Given the description of an element on the screen output the (x, y) to click on. 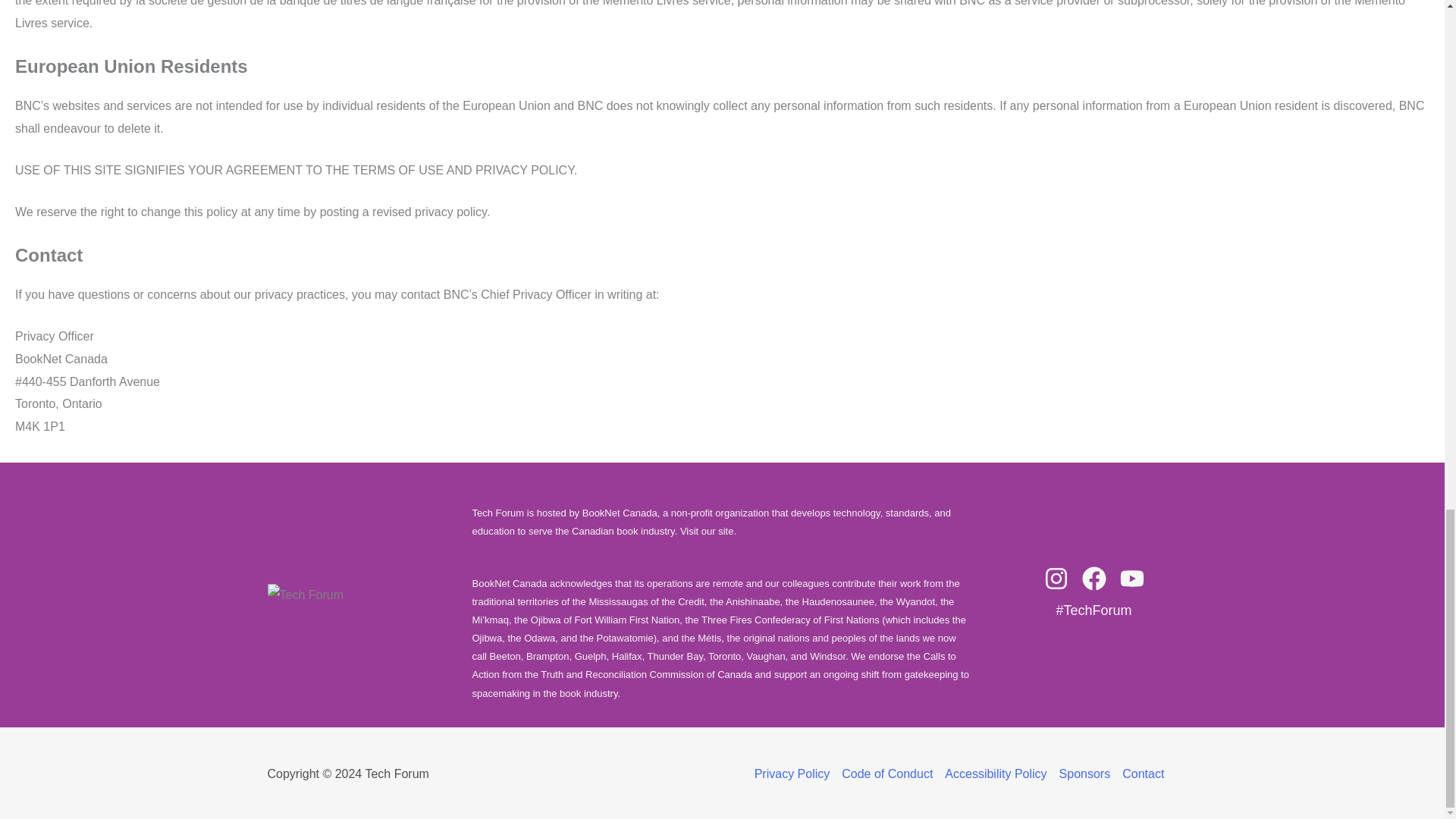
Visit our site (706, 531)
Code of Conduct (887, 773)
Haudenosaunee (838, 601)
Accessibility Policy (995, 773)
Sponsors (1084, 773)
Privacy Policy (794, 773)
Contact (1139, 773)
Mississaugas of the Credit (645, 601)
